Given the description of an element on the screen output the (x, y) to click on. 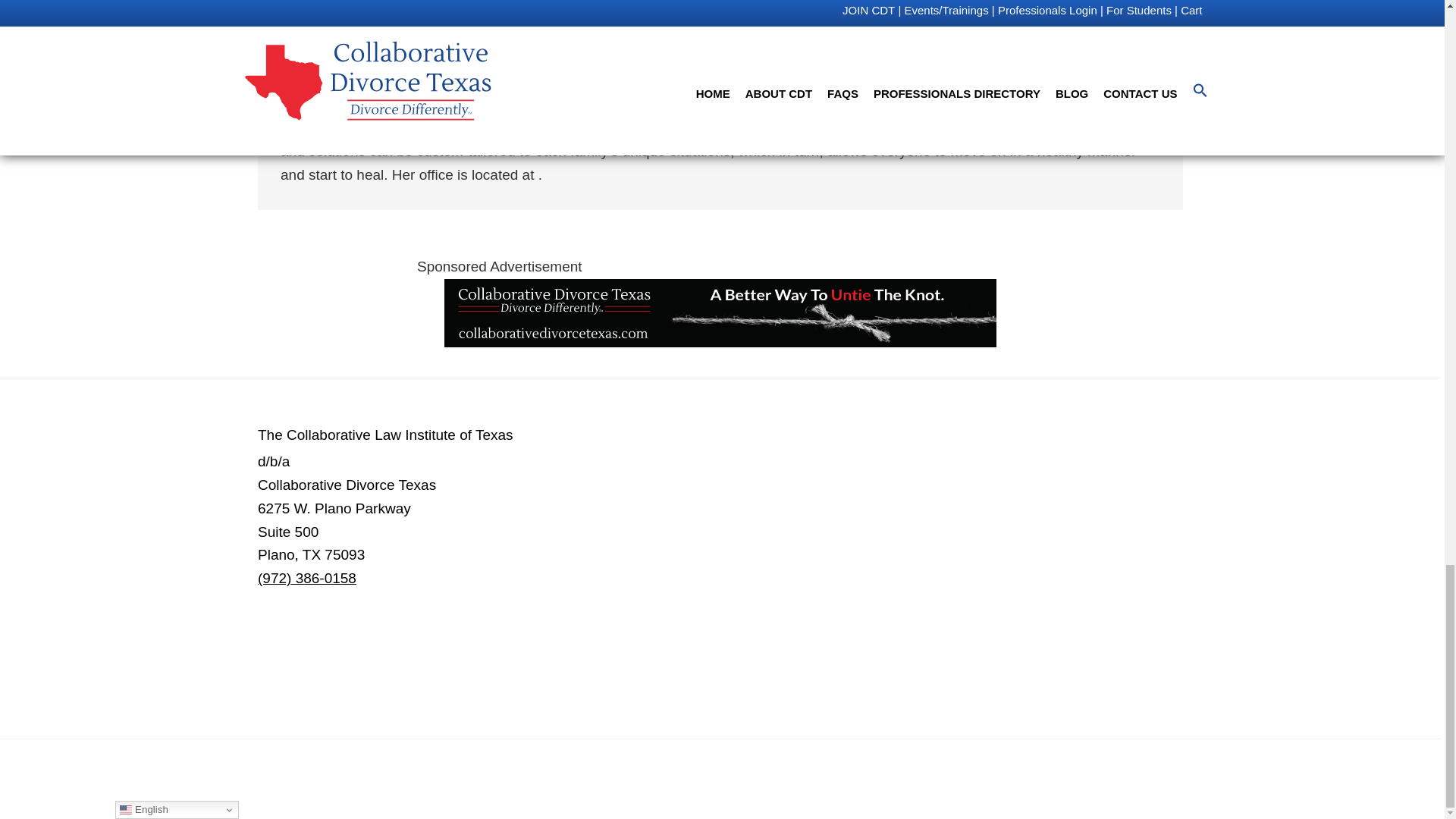
Divorce (351, 6)
